Given the description of an element on the screen output the (x, y) to click on. 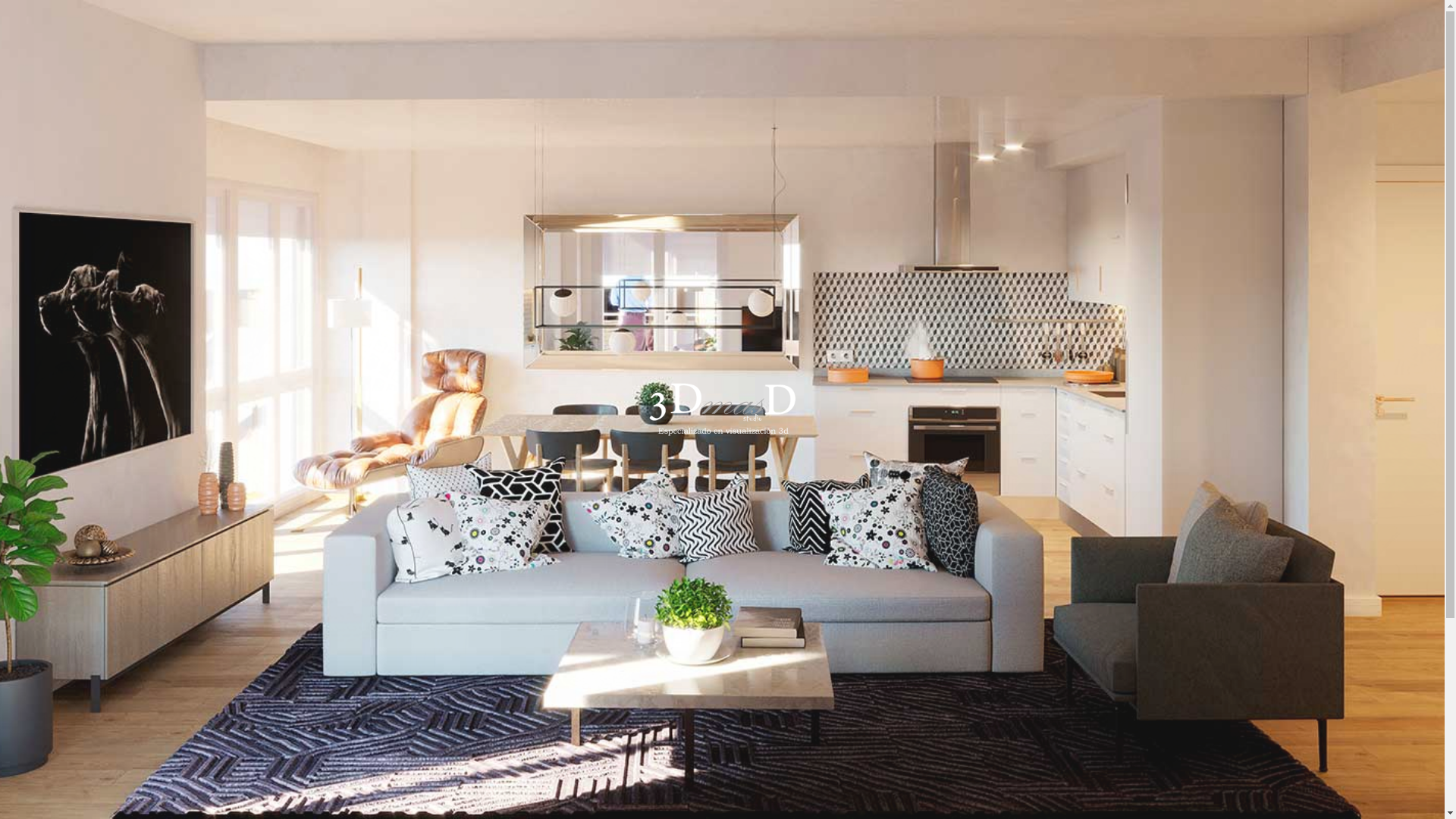
Skip to content Element type: text (0, 0)
